Given the description of an element on the screen output the (x, y) to click on. 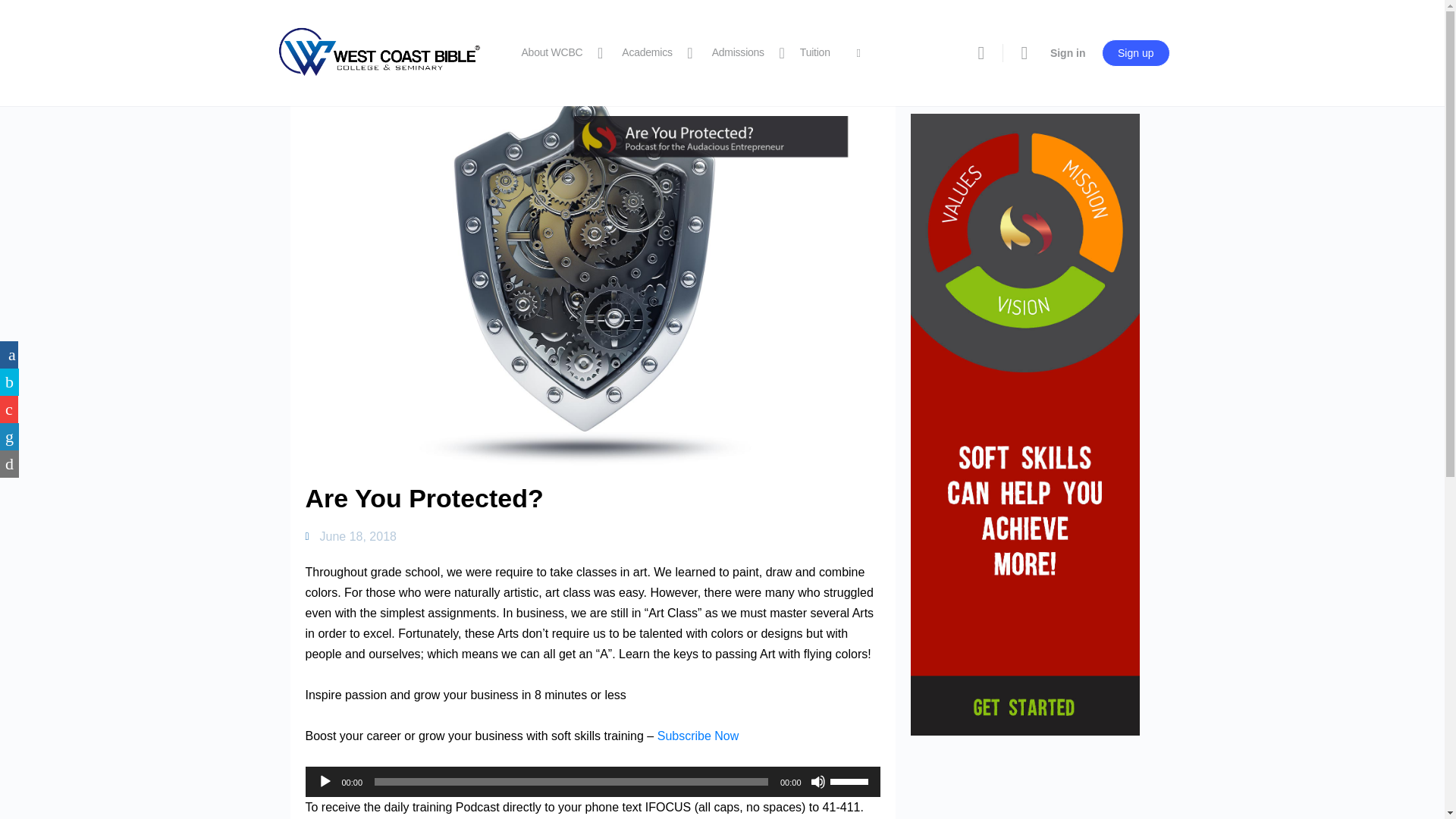
Mute (817, 781)
Play (324, 781)
Sign up (1135, 52)
Sign in (1067, 53)
